Given the description of an element on the screen output the (x, y) to click on. 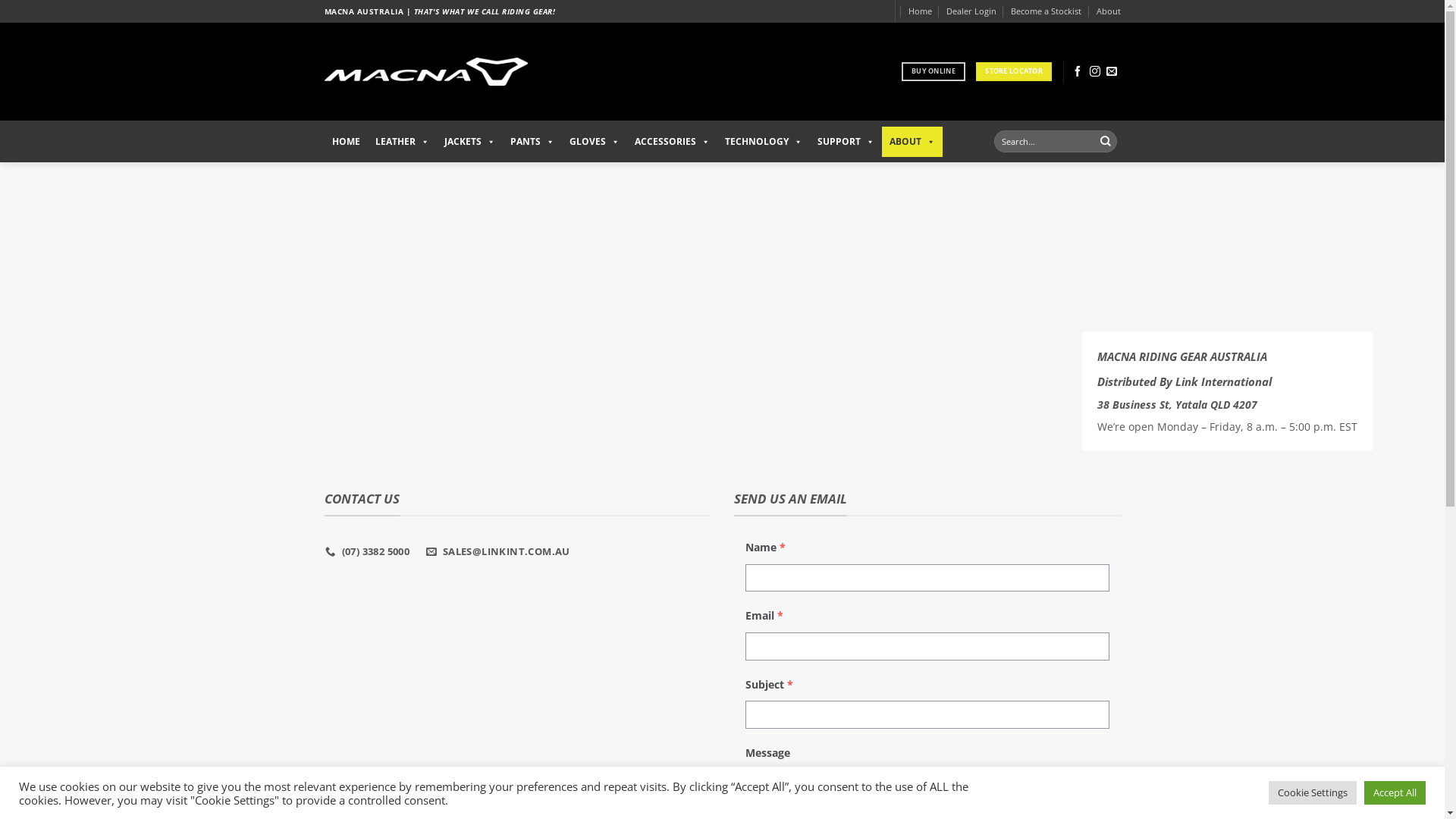
GLOVES Element type: text (593, 140)
SUPPORT Element type: text (845, 140)
ABOUT Element type: text (911, 140)
TECHNOLOGY Element type: text (763, 140)
Accept All Element type: text (1394, 792)
HOME Element type: text (345, 140)
ACCESSORIES Element type: text (671, 140)
Follow on Facebook Element type: hover (1077, 71)
Follow on Instagram Element type: hover (1094, 71)
Macna Riding Gear Australia - Macna Riding Gear Australia Element type: hover (425, 71)
Cookie Settings Element type: text (1312, 792)
STORE LOCATOR Element type: text (1013, 71)
Become a Stockist Element type: text (1045, 10)
Home Element type: text (919, 10)
JACKETS Element type: text (469, 140)
LEATHER Element type: text (401, 140)
(07) 3382 5000 Element type: text (368, 551)
PANTS Element type: text (531, 140)
BUY ONLINE Element type: text (933, 71)
Dealer Login Element type: text (971, 10)
Send us an email Element type: hover (1111, 71)
Search Element type: text (1106, 141)
About Element type: text (1108, 10)
SALES@LINKINT.COM.AU Element type: text (498, 551)
